Given the description of an element on the screen output the (x, y) to click on. 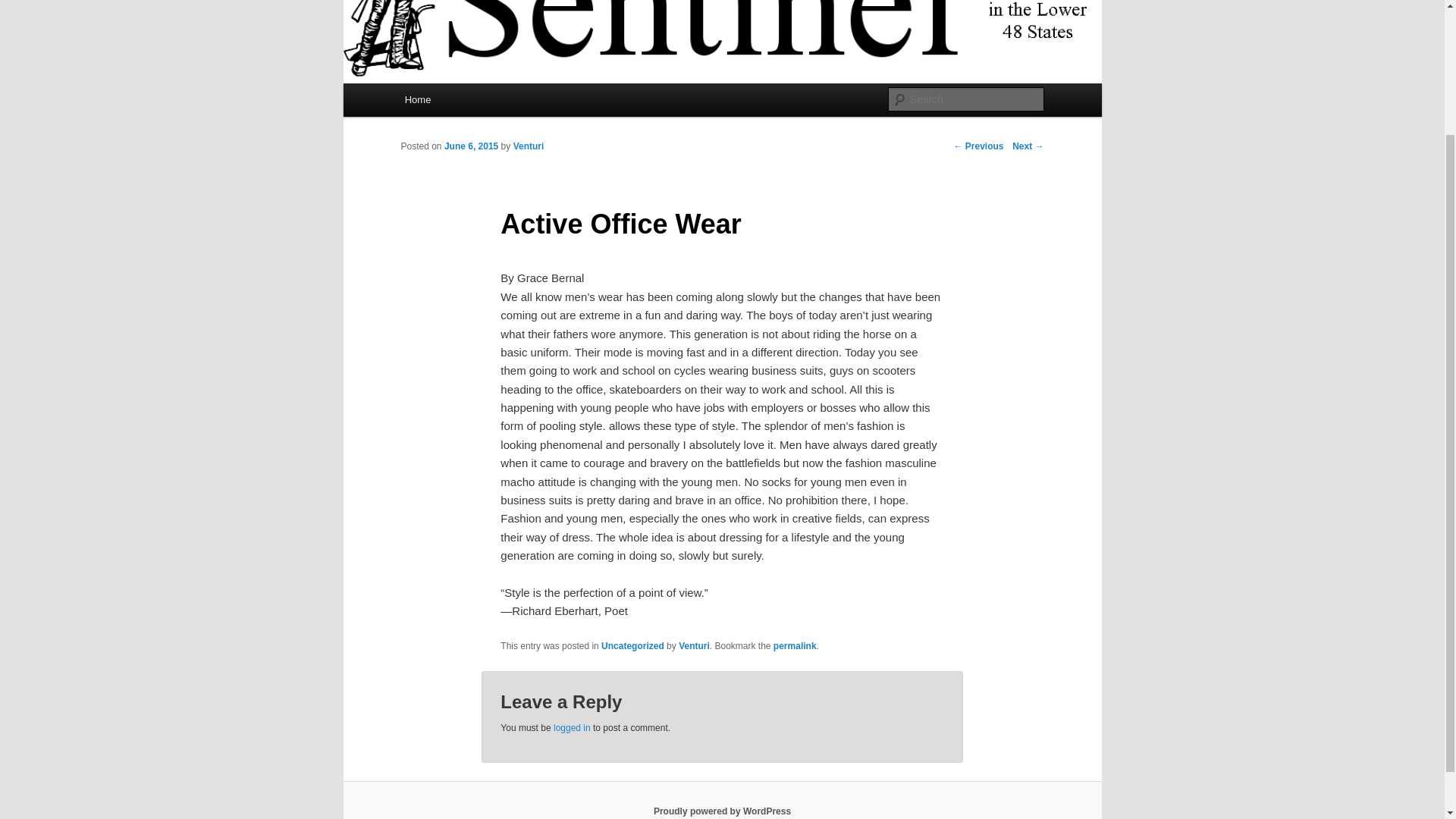
Permalink to Active Office Wear (794, 645)
permalink (794, 645)
Skip to primary content (472, 102)
Skip to secondary content (479, 102)
Venturi (528, 145)
10:34 AM (470, 145)
Semantic Personal Publishing Platform (721, 810)
Uncategorized (632, 645)
Skip to secondary content (479, 102)
View all posts by Venturi (528, 145)
logged in (572, 727)
Home (417, 99)
June 6, 2015 (470, 145)
Venturi (694, 645)
Skip to primary content (472, 102)
